Given the description of an element on the screen output the (x, y) to click on. 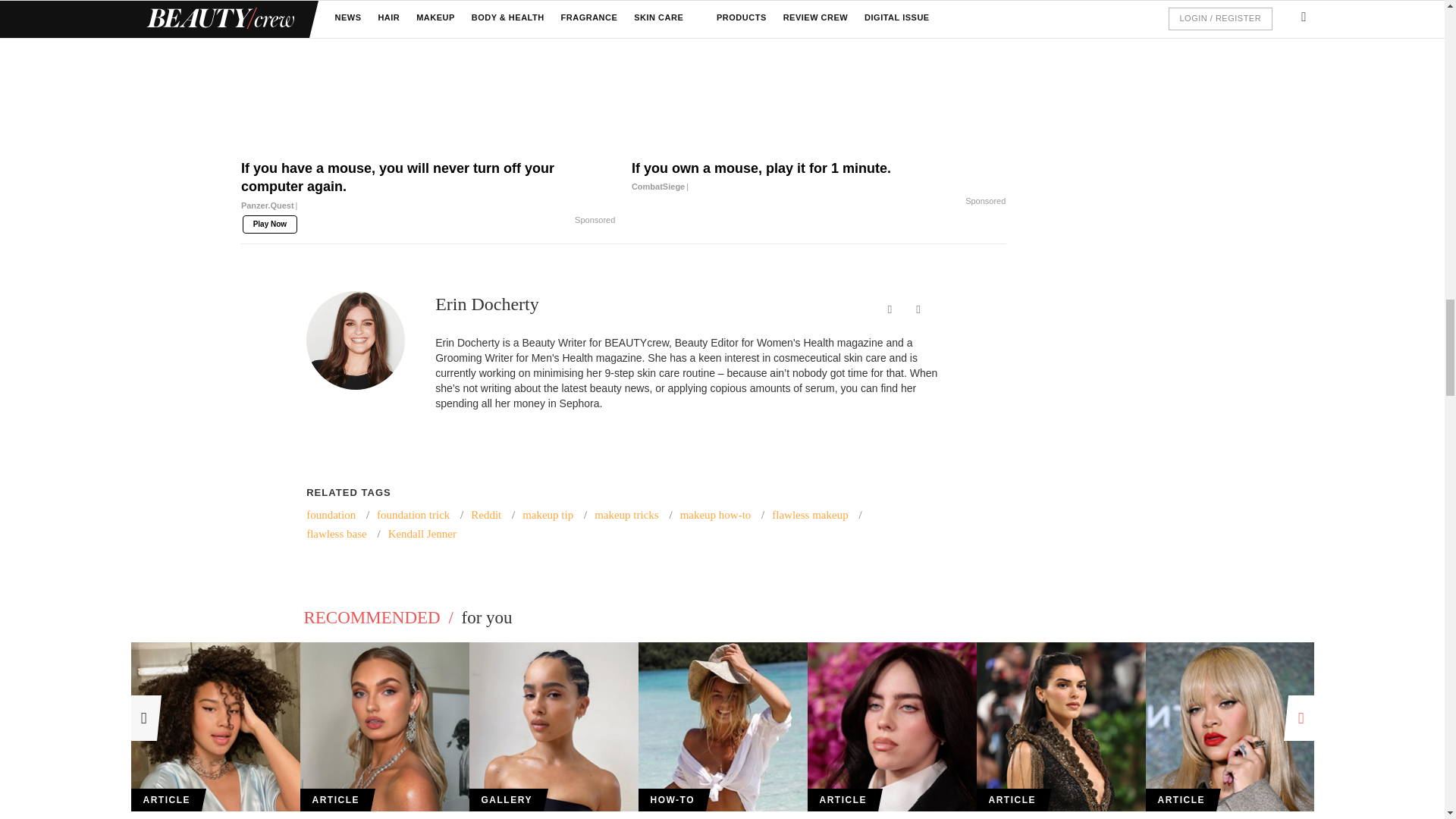
If you own a mouse, play it for 1 minute. (818, 77)
If you own a mouse, play it for 1 minute. (818, 176)
